Given the description of an element on the screen output the (x, y) to click on. 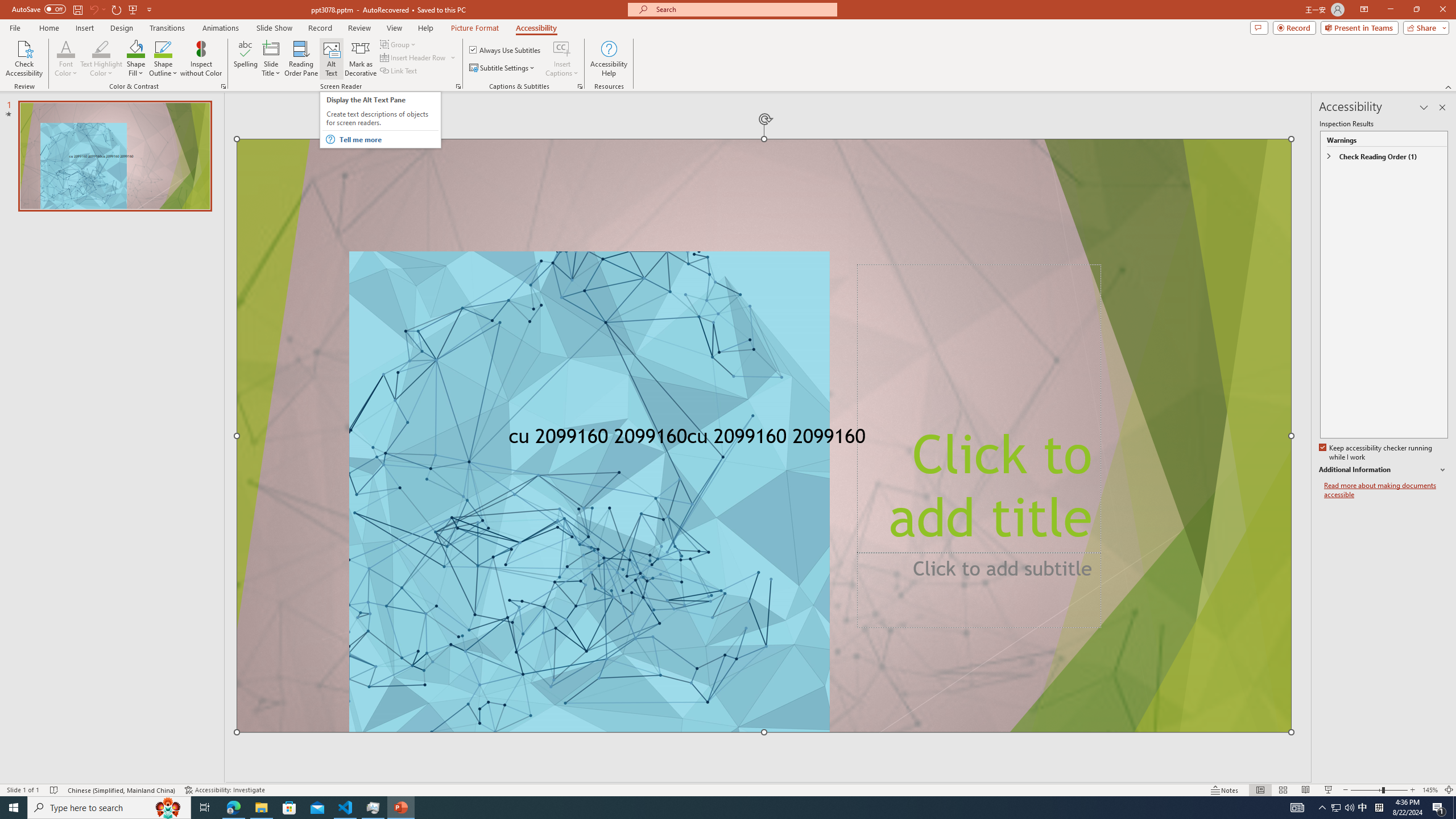
Mark as Decorative (360, 58)
